Given the description of an element on the screen output the (x, y) to click on. 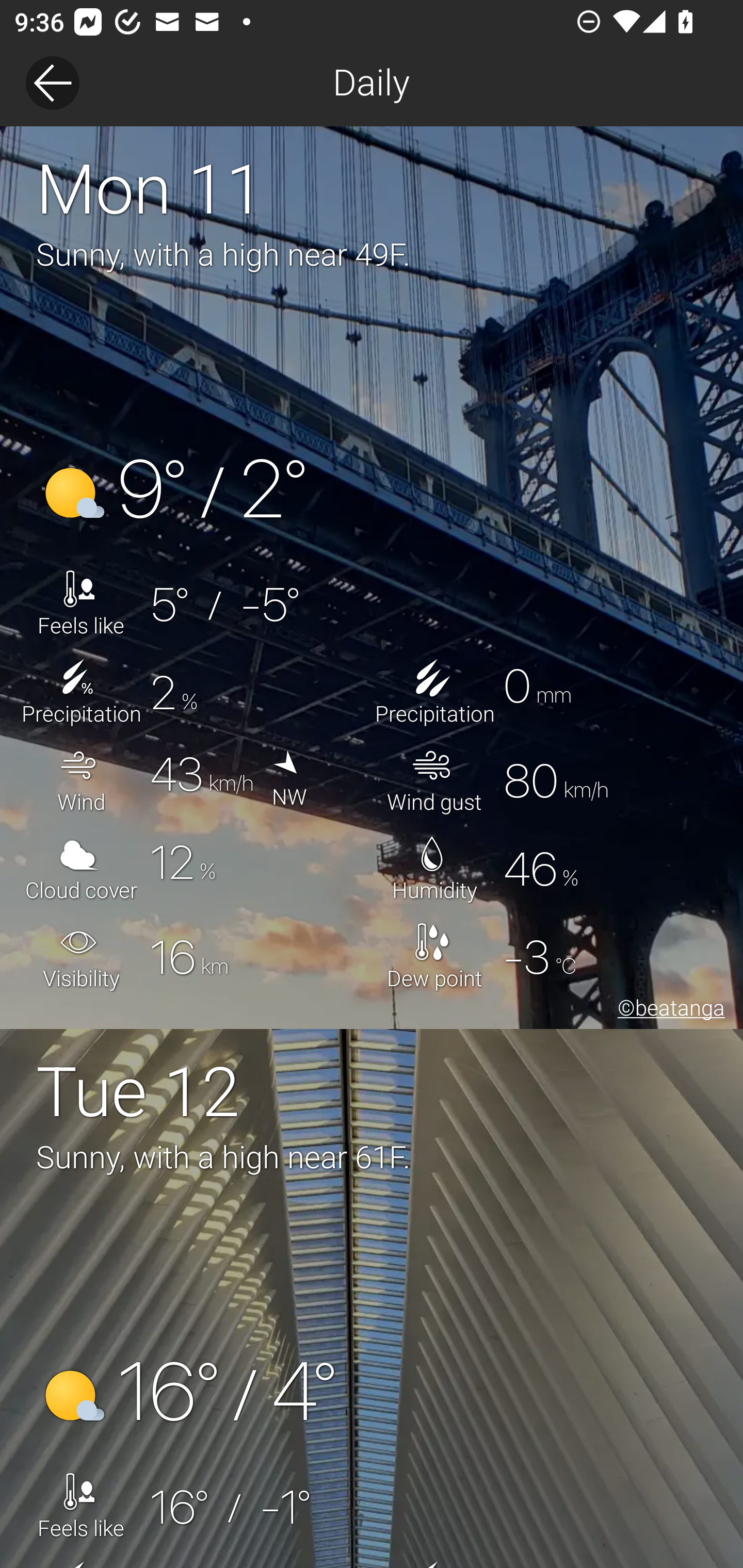
©beatanga (667, 1010)
